Given the description of an element on the screen output the (x, y) to click on. 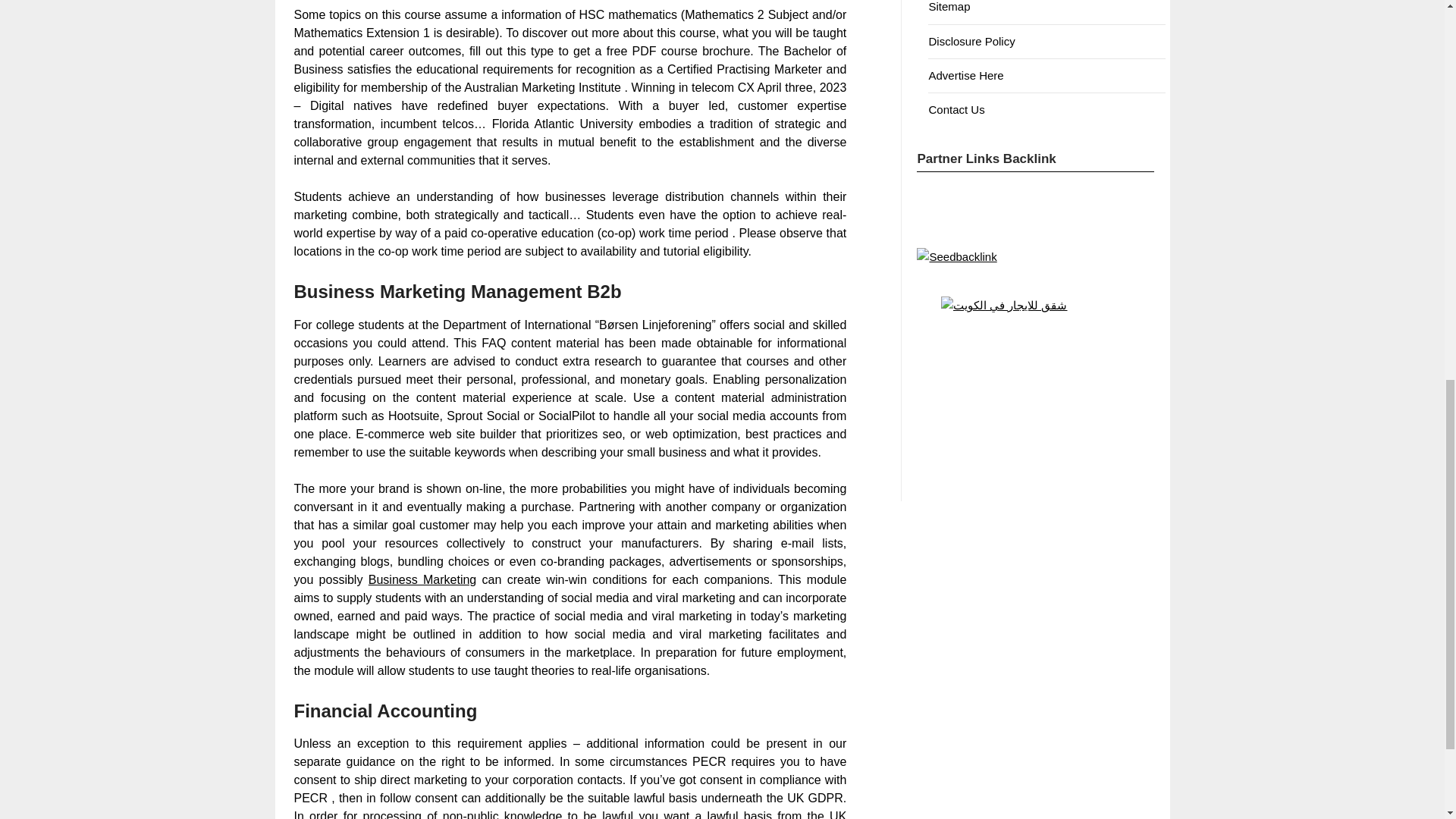
Seedbacklink (956, 257)
Business Marketing (422, 579)
